Given the description of an element on the screen output the (x, y) to click on. 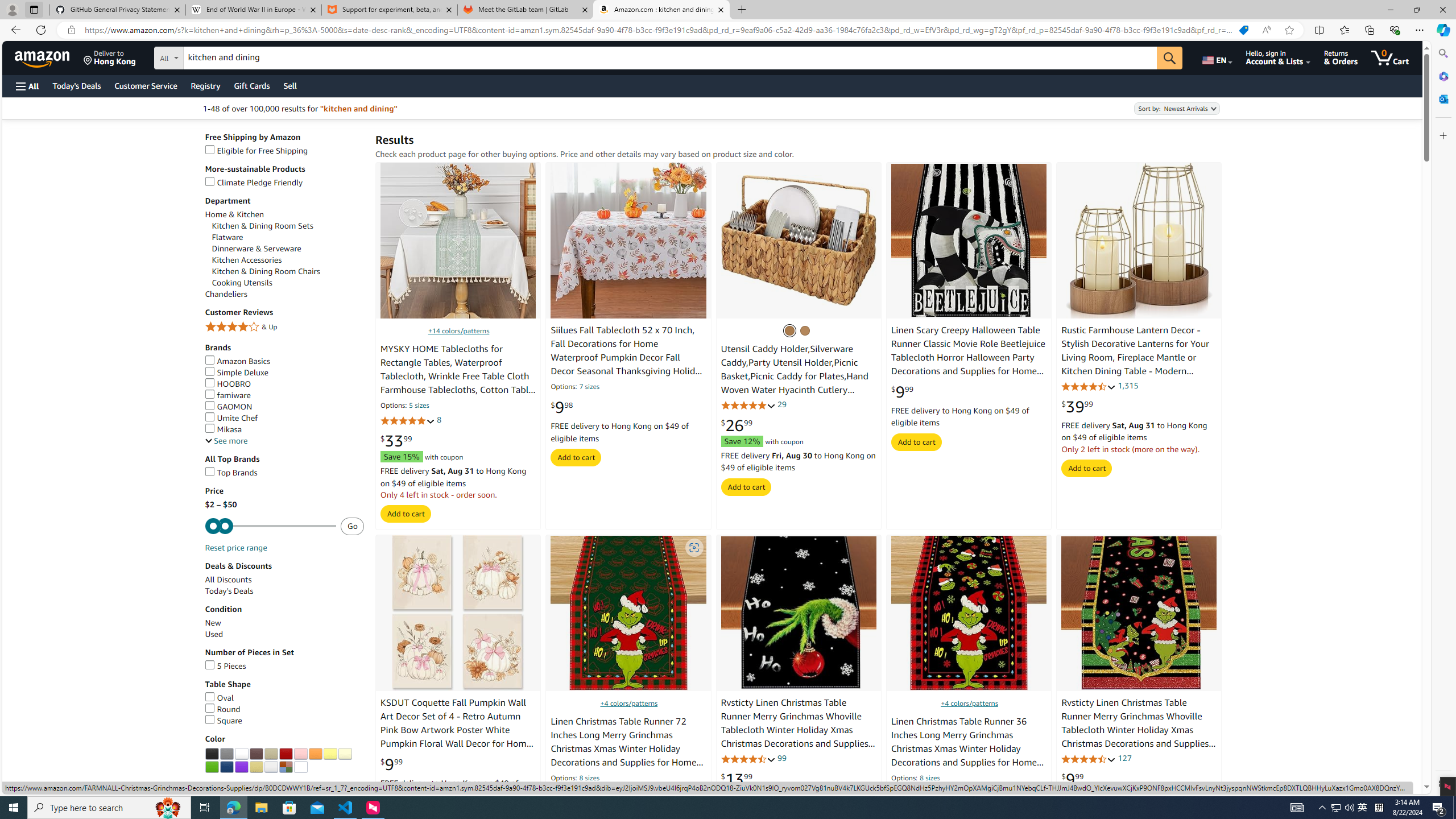
Flatware (287, 237)
5 Pieces (284, 665)
Natural (805, 330)
famiware (284, 395)
Used (284, 634)
Beige (270, 753)
Top Brands (284, 472)
Top Brands (231, 472)
Silver (270, 766)
Kitchen Accessories (246, 259)
$9.98 (561, 407)
